Given the description of an element on the screen output the (x, y) to click on. 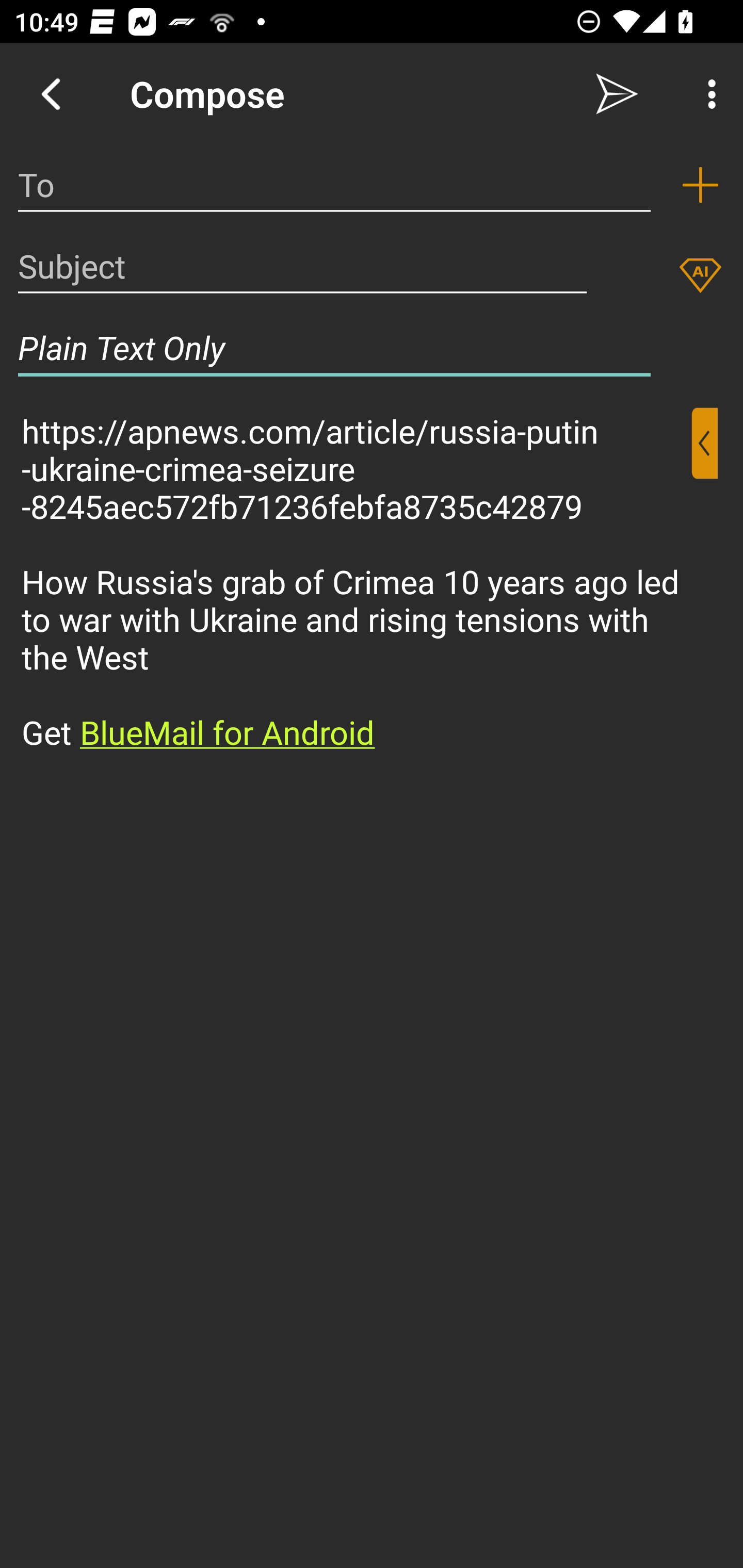
Navigate up (50, 93)
Send (616, 93)
More Options (706, 93)
To (334, 184)
Add recipient (To) (699, 184)
Subject (302, 266)
Plain Text Only (334, 347)
